Given the description of an element on the screen output the (x, y) to click on. 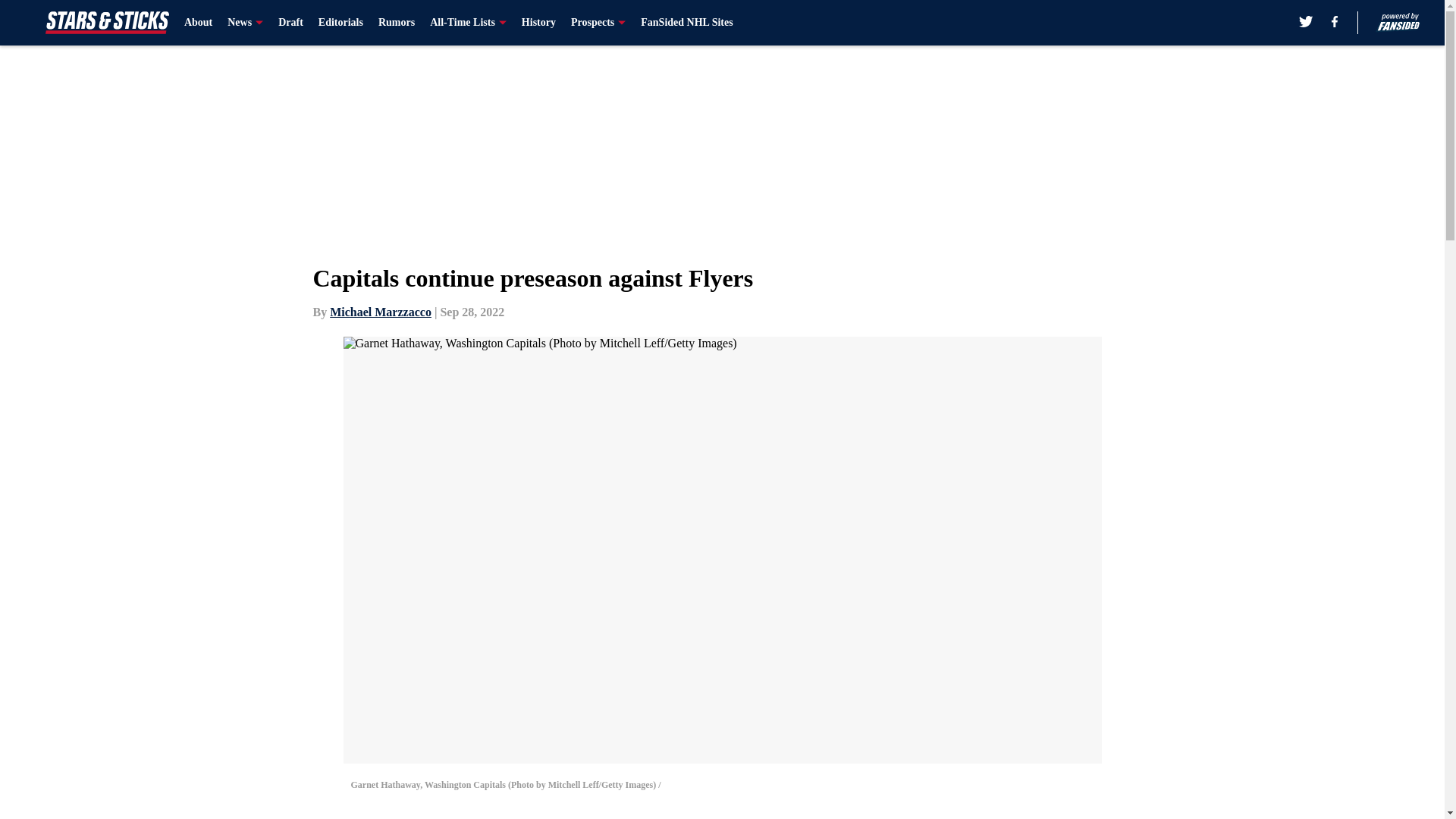
Rumors (396, 22)
FanSided NHL Sites (686, 22)
Editorials (340, 22)
History (538, 22)
Michael Marzzacco (380, 311)
About (198, 22)
Draft (290, 22)
